Given the description of an element on the screen output the (x, y) to click on. 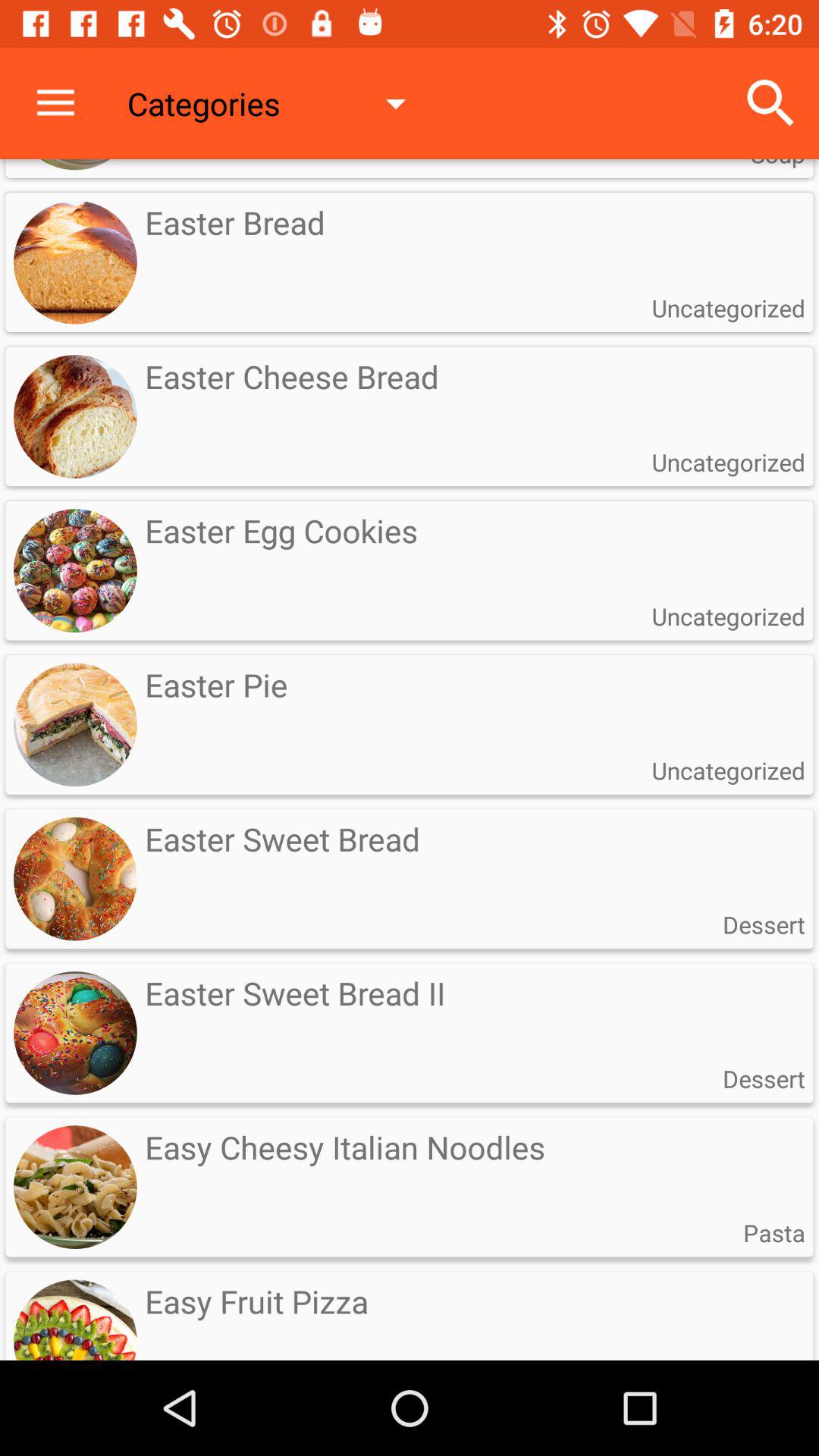
launch icon above the soup item (771, 103)
